Given the description of an element on the screen output the (x, y) to click on. 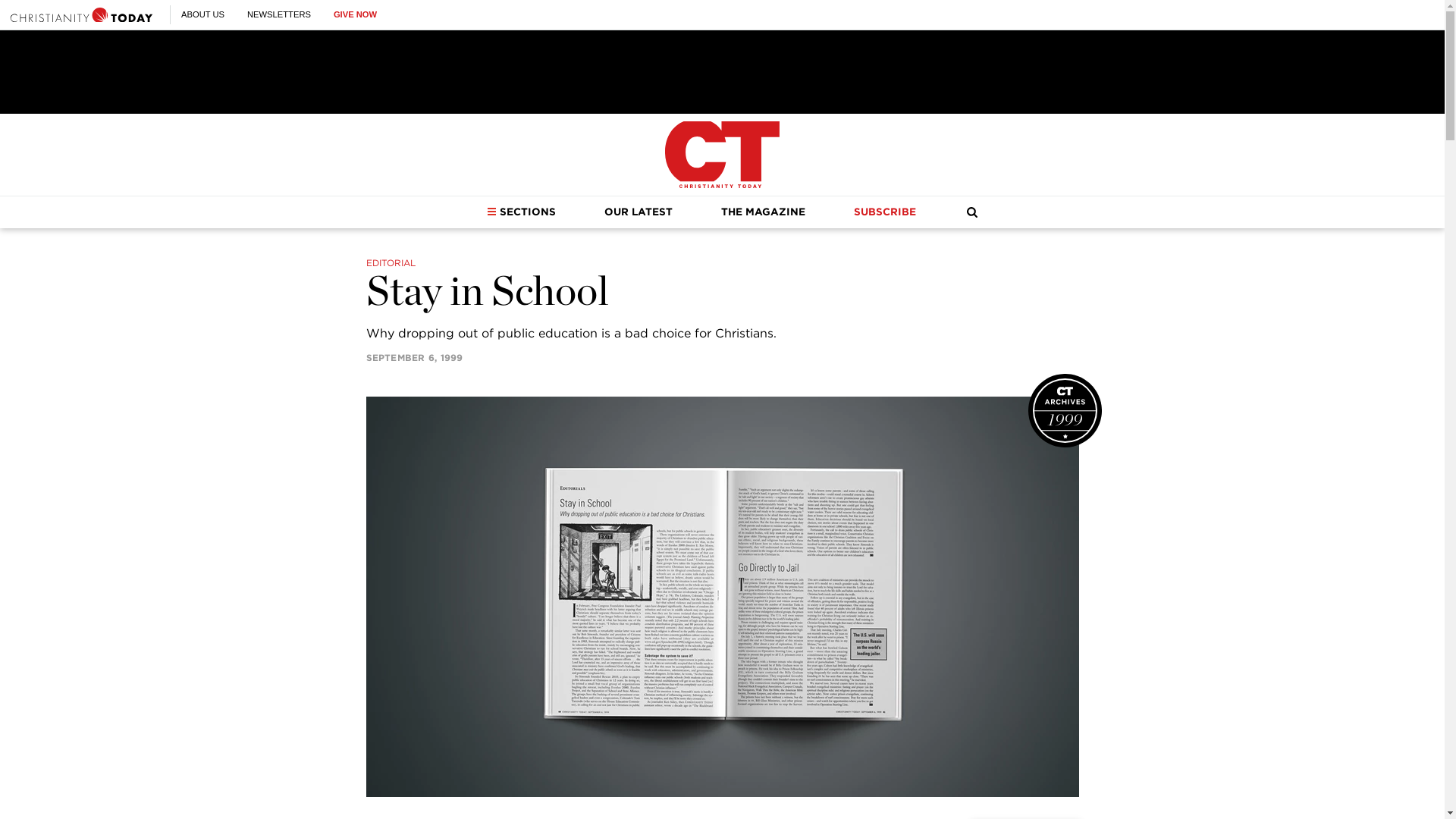
Sections Dropdown (491, 211)
3rd party ad content (721, 71)
NEWSLETTERS (278, 14)
SECTIONS (521, 212)
ABOUT US (202, 14)
Christianity Today (721, 154)
Christianity Today (81, 14)
GIVE NOW (355, 14)
